Given the description of an element on the screen output the (x, y) to click on. 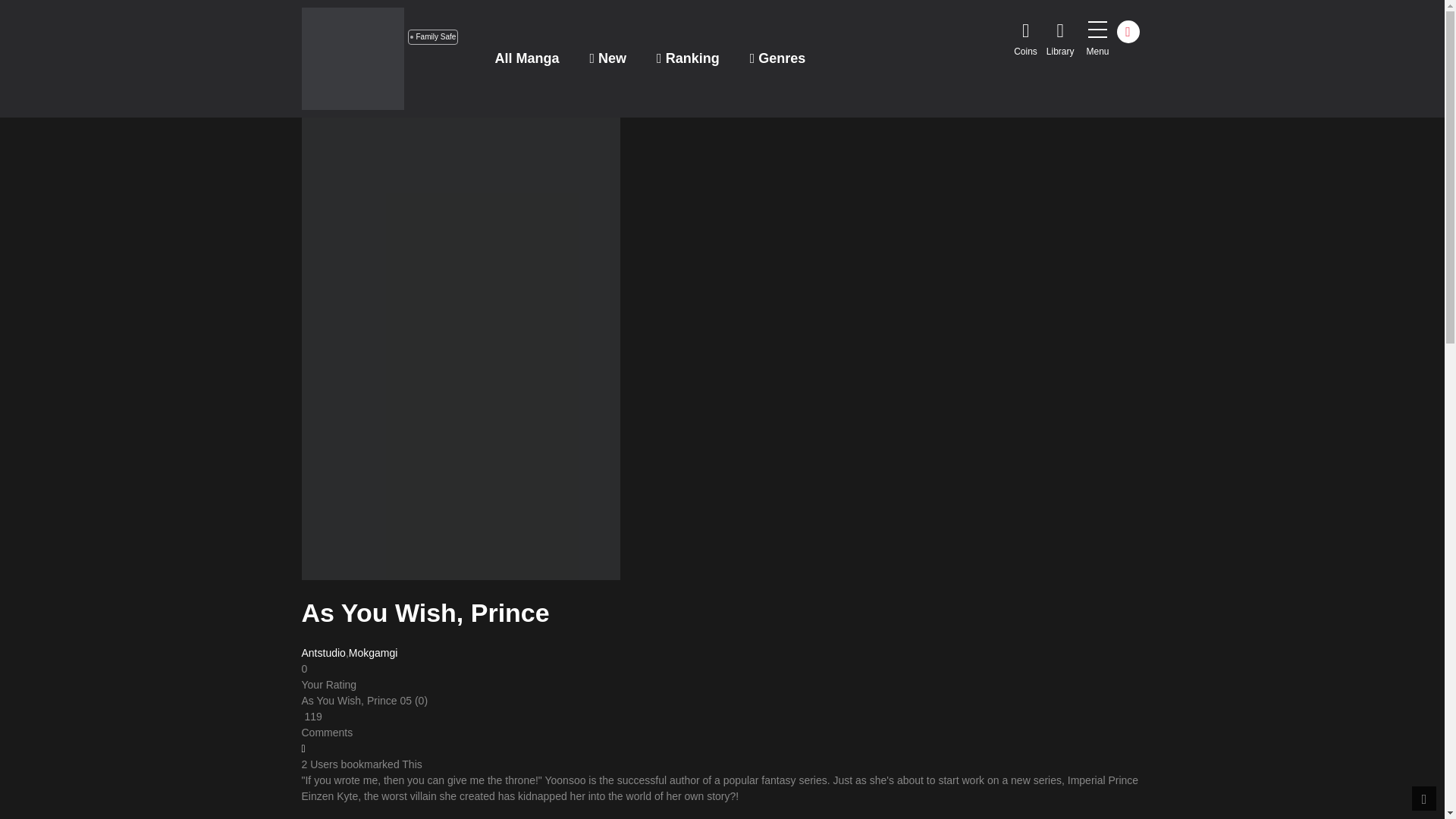
Mokgamgi (373, 653)
Library (1060, 41)
Bookmark (303, 748)
Family Safe (432, 36)
Coins (1024, 41)
Search (970, 9)
Genres (778, 58)
New (608, 58)
Family Safe (432, 36)
Antstudio (323, 653)
As You Wish, Prince (349, 700)
All Manga (526, 58)
Ranking (688, 58)
COCOMIC - Read Manhwa Online (352, 58)
